Given the description of an element on the screen output the (x, y) to click on. 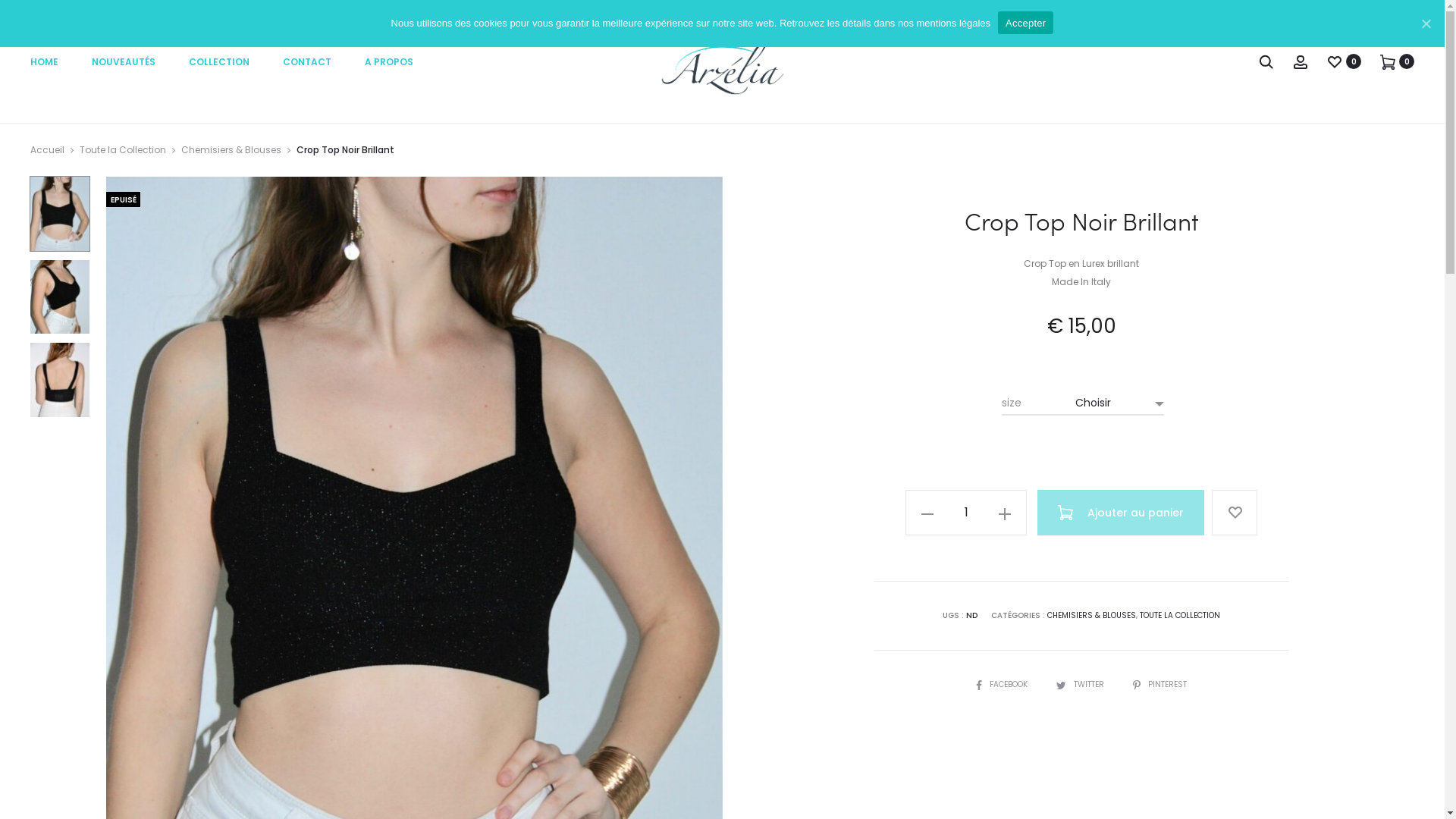
Chemisiers & Blouses Element type: text (231, 149)
TOUTE LA COLLECTION Element type: text (1179, 615)
TWITTER Element type: text (1081, 684)
CHEMISIERS & BLOUSES Element type: text (1091, 615)
0 Element type: text (1334, 61)
COLLECTION Element type: text (218, 62)
A PROPOS Element type: text (388, 62)
CONTACT Element type: text (306, 62)
Add to wishlist Element type: text (1234, 512)
Ajouter au panier Element type: text (1120, 512)
FACEBOOK Element type: text (1002, 684)
HOME Element type: text (44, 62)
Accueil Element type: text (47, 149)
Toute la Collection Element type: text (122, 149)
PINTEREST Element type: text (1159, 684)
0 Element type: text (1387, 61)
Accepter Element type: text (1025, 22)
